Given the description of an element on the screen output the (x, y) to click on. 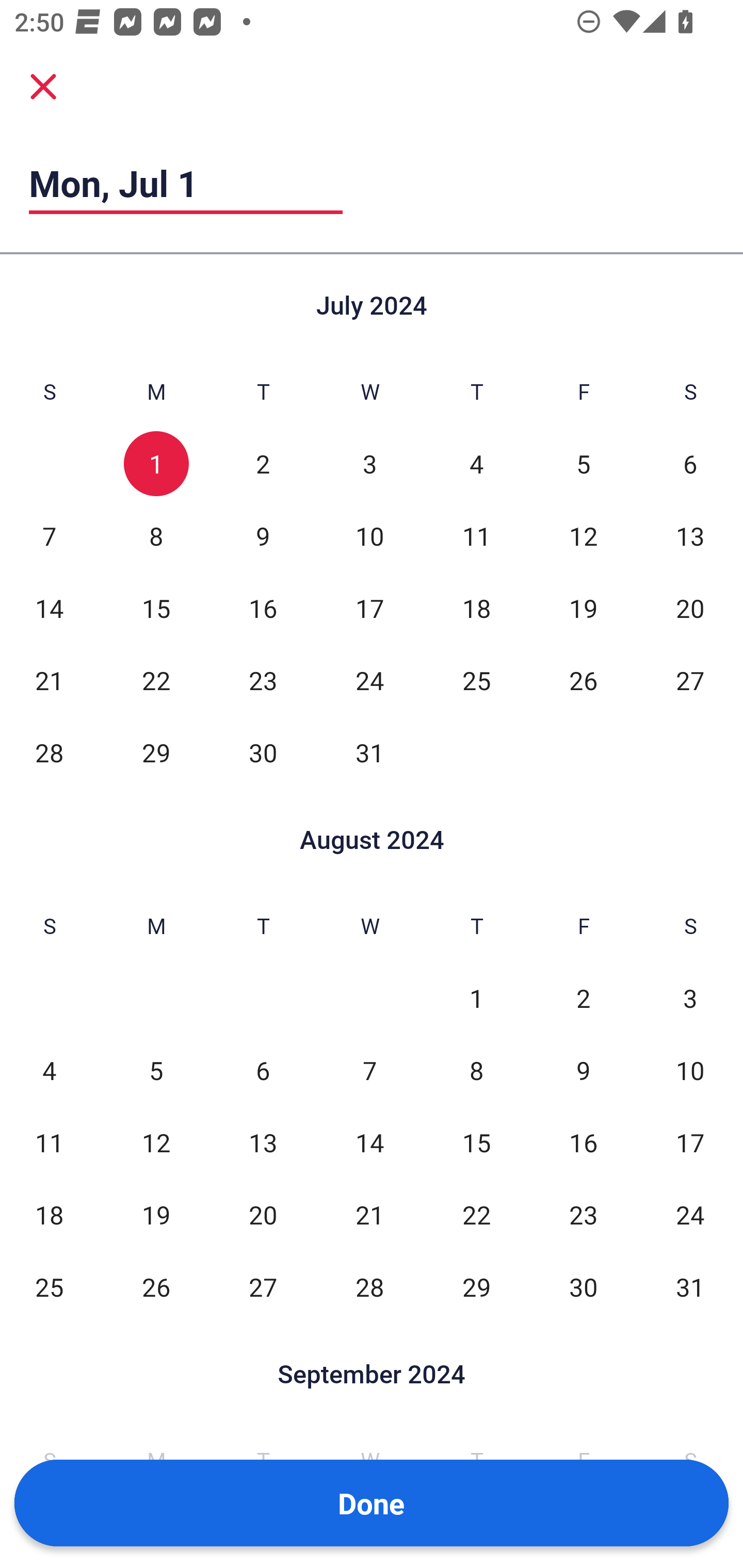
Cancel (43, 86)
Mon, Jul 1 (185, 182)
1 Mon, Jul 1, Selected (156, 464)
2 Tue, Jul 2, Not Selected (263, 464)
3 Wed, Jul 3, Not Selected (369, 464)
4 Thu, Jul 4, Not Selected (476, 464)
5 Fri, Jul 5, Not Selected (583, 464)
6 Sat, Jul 6, Not Selected (690, 464)
7 Sun, Jul 7, Not Selected (49, 536)
8 Mon, Jul 8, Not Selected (156, 536)
9 Tue, Jul 9, Not Selected (263, 536)
10 Wed, Jul 10, Not Selected (369, 536)
11 Thu, Jul 11, Not Selected (476, 536)
12 Fri, Jul 12, Not Selected (583, 536)
13 Sat, Jul 13, Not Selected (690, 536)
14 Sun, Jul 14, Not Selected (49, 608)
15 Mon, Jul 15, Not Selected (156, 608)
16 Tue, Jul 16, Not Selected (263, 608)
17 Wed, Jul 17, Not Selected (369, 608)
18 Thu, Jul 18, Not Selected (476, 608)
19 Fri, Jul 19, Not Selected (583, 608)
20 Sat, Jul 20, Not Selected (690, 608)
21 Sun, Jul 21, Not Selected (49, 680)
22 Mon, Jul 22, Not Selected (156, 680)
23 Tue, Jul 23, Not Selected (263, 680)
24 Wed, Jul 24, Not Selected (369, 680)
25 Thu, Jul 25, Not Selected (476, 680)
26 Fri, Jul 26, Not Selected (583, 680)
27 Sat, Jul 27, Not Selected (690, 680)
28 Sun, Jul 28, Not Selected (49, 752)
29 Mon, Jul 29, Not Selected (156, 752)
30 Tue, Jul 30, Not Selected (263, 752)
31 Wed, Jul 31, Not Selected (369, 752)
1 Thu, Aug 1, Not Selected (476, 997)
2 Fri, Aug 2, Not Selected (583, 997)
3 Sat, Aug 3, Not Selected (690, 997)
4 Sun, Aug 4, Not Selected (49, 1070)
5 Mon, Aug 5, Not Selected (156, 1070)
6 Tue, Aug 6, Not Selected (263, 1070)
7 Wed, Aug 7, Not Selected (369, 1070)
8 Thu, Aug 8, Not Selected (476, 1070)
9 Fri, Aug 9, Not Selected (583, 1070)
10 Sat, Aug 10, Not Selected (690, 1070)
11 Sun, Aug 11, Not Selected (49, 1143)
12 Mon, Aug 12, Not Selected (156, 1143)
13 Tue, Aug 13, Not Selected (263, 1143)
14 Wed, Aug 14, Not Selected (369, 1143)
15 Thu, Aug 15, Not Selected (476, 1143)
16 Fri, Aug 16, Not Selected (583, 1143)
17 Sat, Aug 17, Not Selected (690, 1143)
18 Sun, Aug 18, Not Selected (49, 1215)
19 Mon, Aug 19, Not Selected (156, 1215)
20 Tue, Aug 20, Not Selected (263, 1215)
21 Wed, Aug 21, Not Selected (369, 1215)
22 Thu, Aug 22, Not Selected (476, 1215)
23 Fri, Aug 23, Not Selected (583, 1215)
24 Sat, Aug 24, Not Selected (690, 1215)
25 Sun, Aug 25, Not Selected (49, 1287)
26 Mon, Aug 26, Not Selected (156, 1287)
27 Tue, Aug 27, Not Selected (263, 1287)
28 Wed, Aug 28, Not Selected (369, 1287)
29 Thu, Aug 29, Not Selected (476, 1287)
30 Fri, Aug 30, Not Selected (583, 1287)
31 Sat, Aug 31, Not Selected (690, 1287)
Done Button Done (371, 1502)
